Given the description of an element on the screen output the (x, y) to click on. 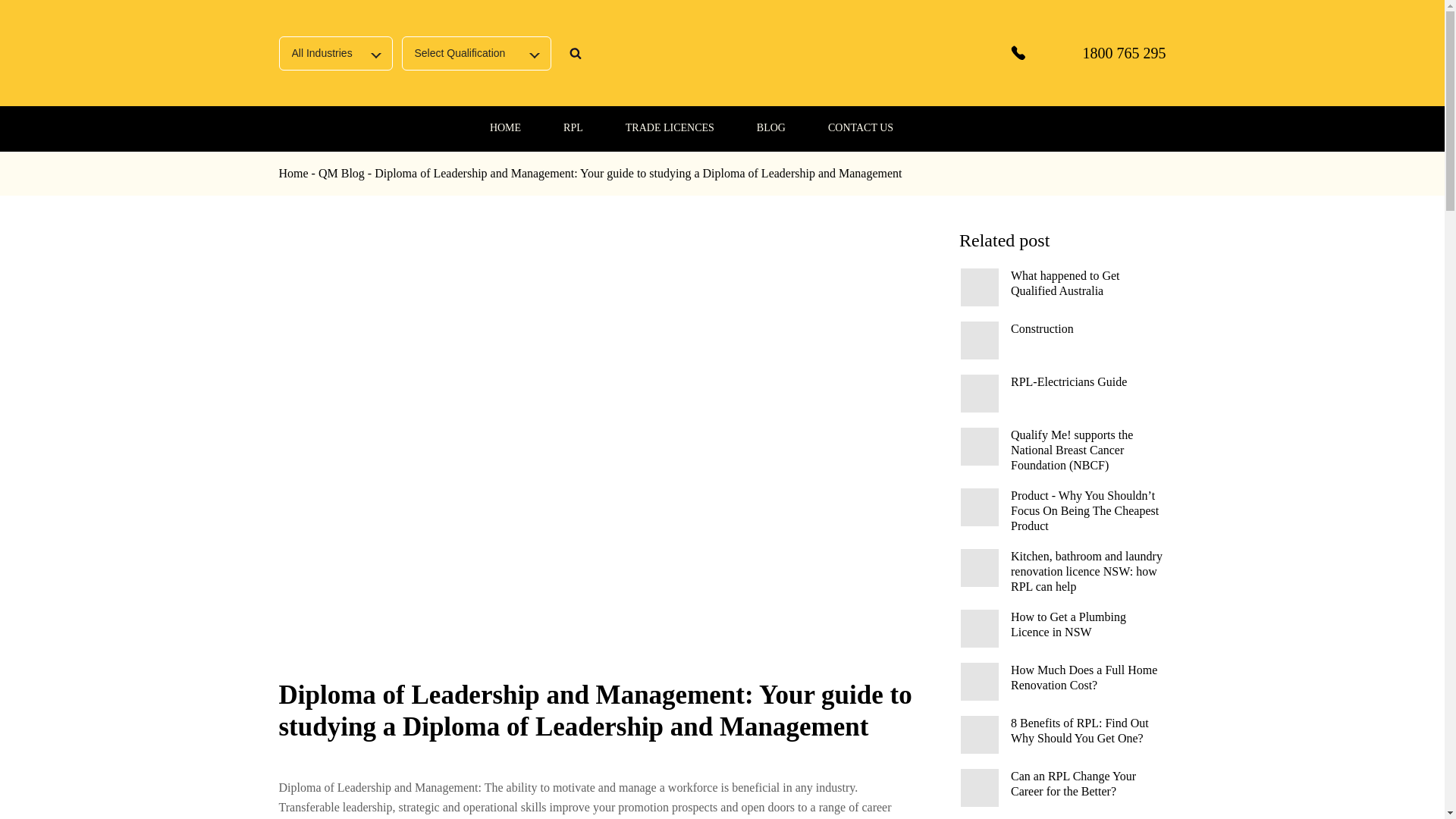
Go to Homepage (713, 53)
RPL-Electricians Guide (979, 393)
Click to make a call (1087, 52)
Select Qualification (476, 53)
What happened to Get Qualified Australia (979, 287)
All Industries (336, 53)
Construction (979, 340)
